Given the description of an element on the screen output the (x, y) to click on. 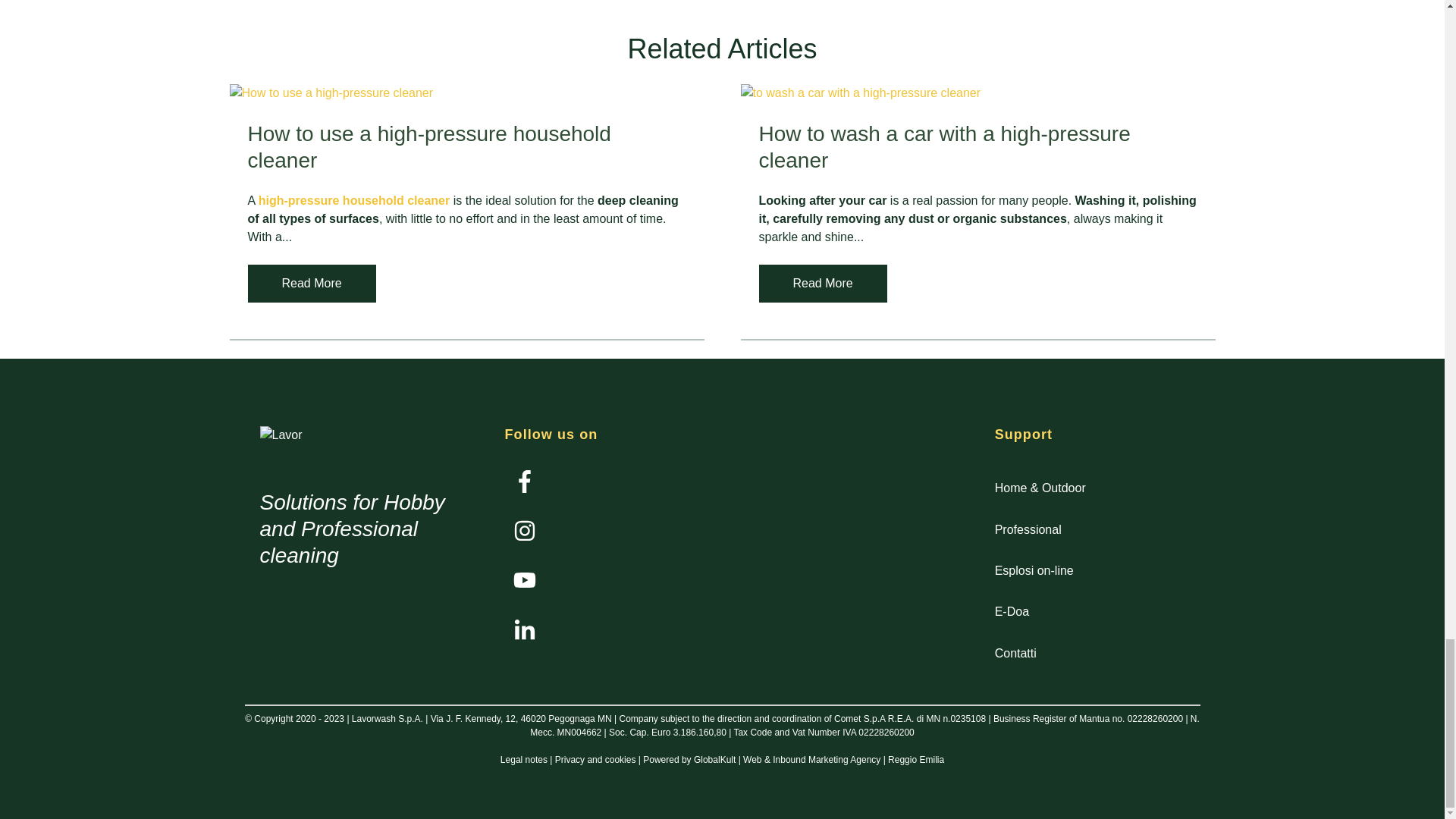
Follow us on LinkedIn (524, 629)
Read More (311, 283)
Follow us on Instagram (524, 530)
Follow us on Instagram (529, 535)
How to use a high-pressure household cleaner (428, 146)
Follow us on Facebook (524, 481)
How to wash a car with a high-pressure cleaner (943, 146)
Read More (822, 283)
Follow us on Facebook (529, 486)
high-pressure household cleaner (354, 200)
Follow us on Instagram (524, 579)
Lavor (280, 434)
